Given the description of an element on the screen output the (x, y) to click on. 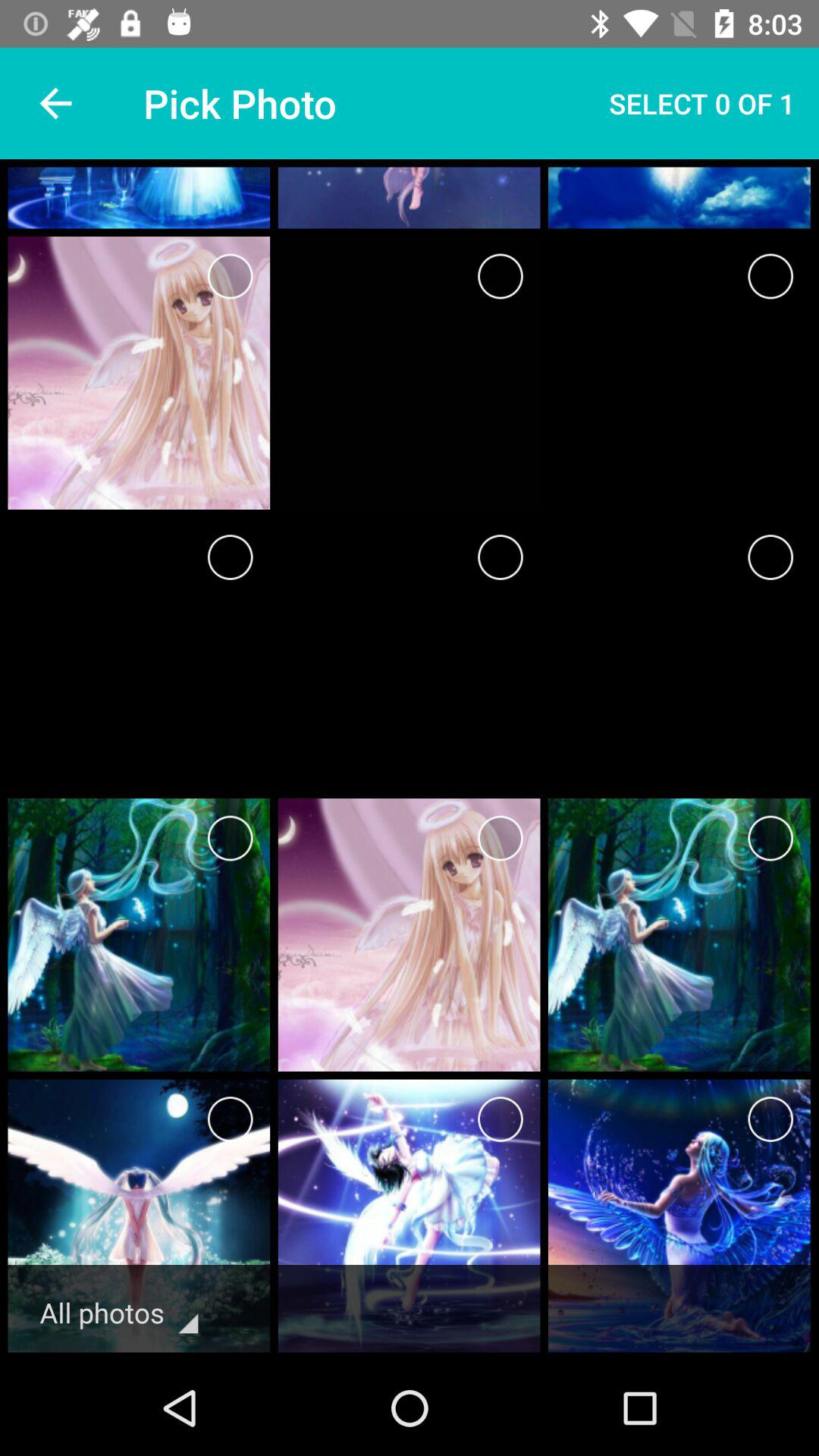
option (500, 557)
